Given the description of an element on the screen output the (x, y) to click on. 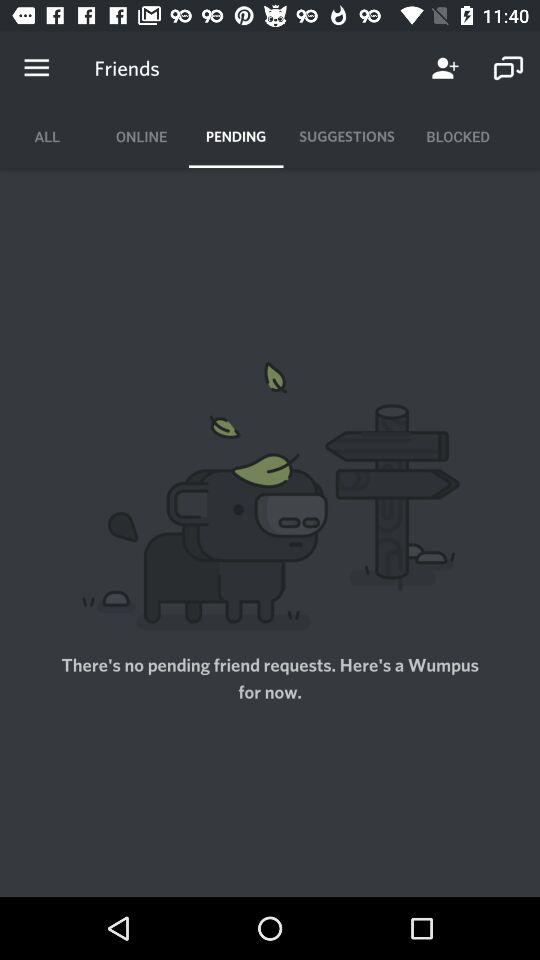
turn on item above the blocked (444, 67)
